Given the description of an element on the screen output the (x, y) to click on. 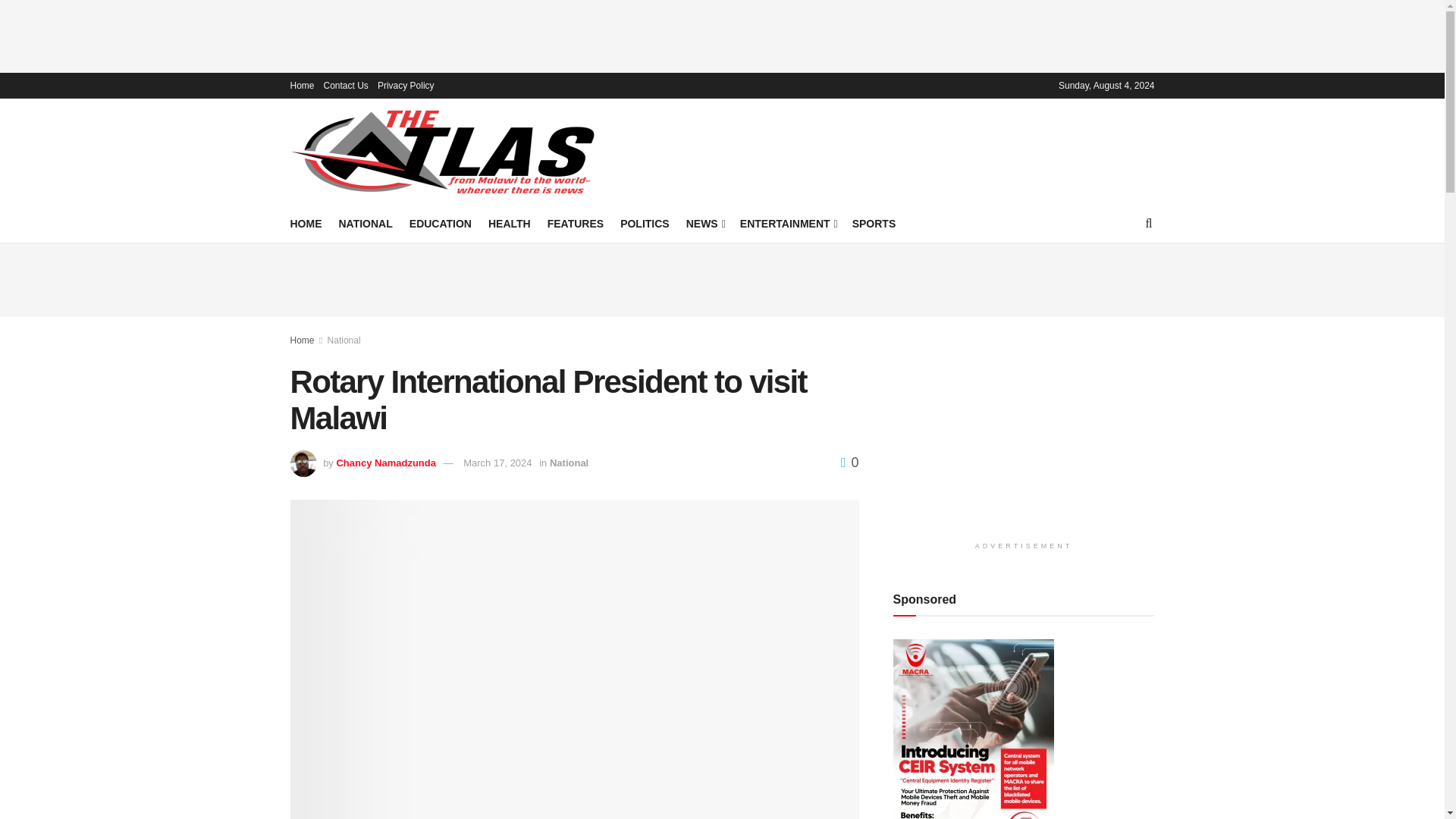
NEWS (704, 223)
NATIONAL (364, 223)
Privacy Policy (405, 85)
ENTERTAINMENT (787, 223)
Contact Us (345, 85)
Home (301, 85)
Advertisement (722, 33)
POLITICS (644, 223)
Advertisement (896, 149)
FEATURES (575, 223)
HEALTH (509, 223)
Advertisement (722, 277)
HOME (305, 223)
SPORTS (873, 223)
EDUCATION (440, 223)
